Given the description of an element on the screen output the (x, y) to click on. 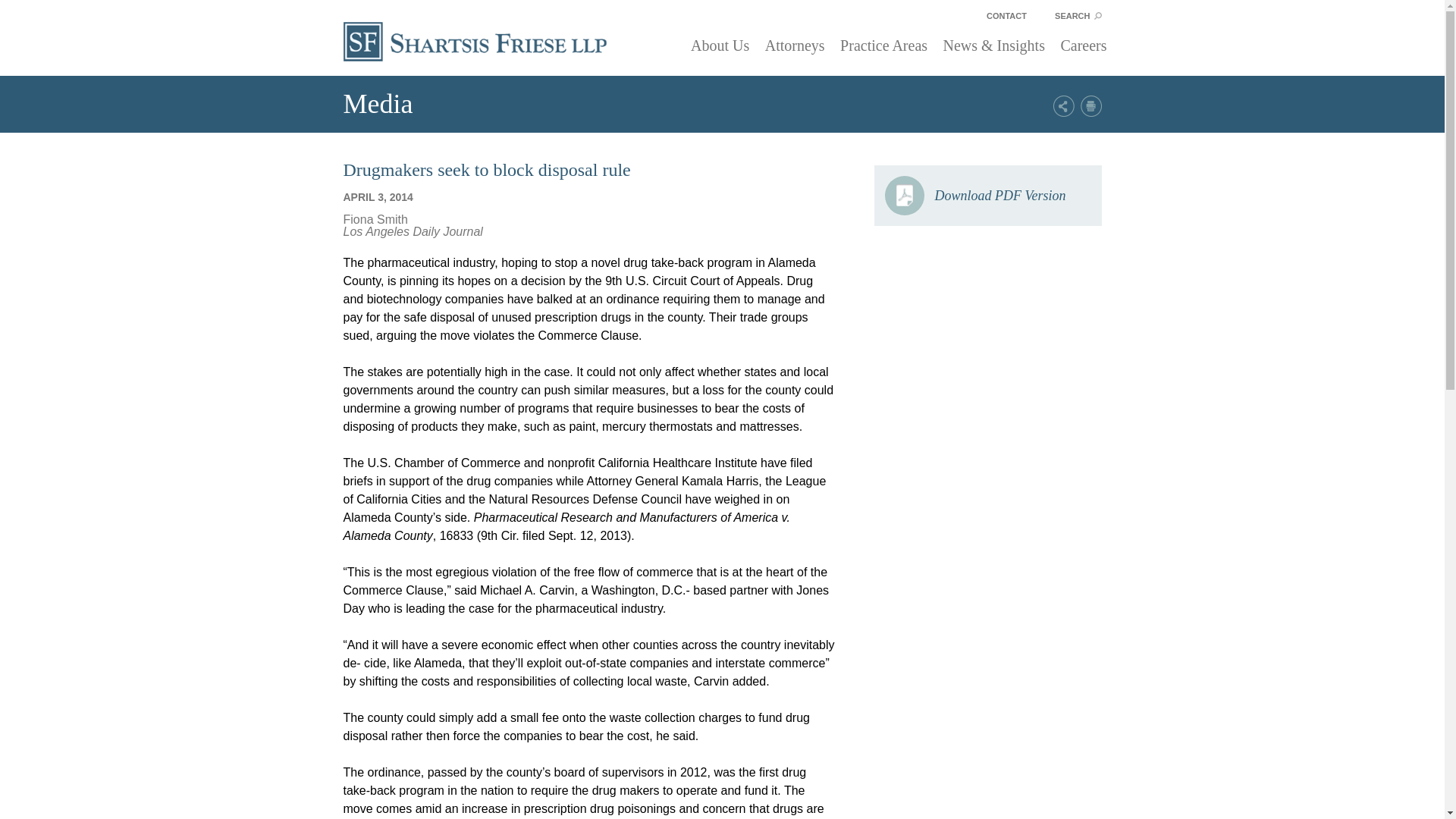
CONTACT (1006, 12)
Attorneys (794, 44)
SEARCH (1077, 12)
About Us (719, 44)
